Given the description of an element on the screen output the (x, y) to click on. 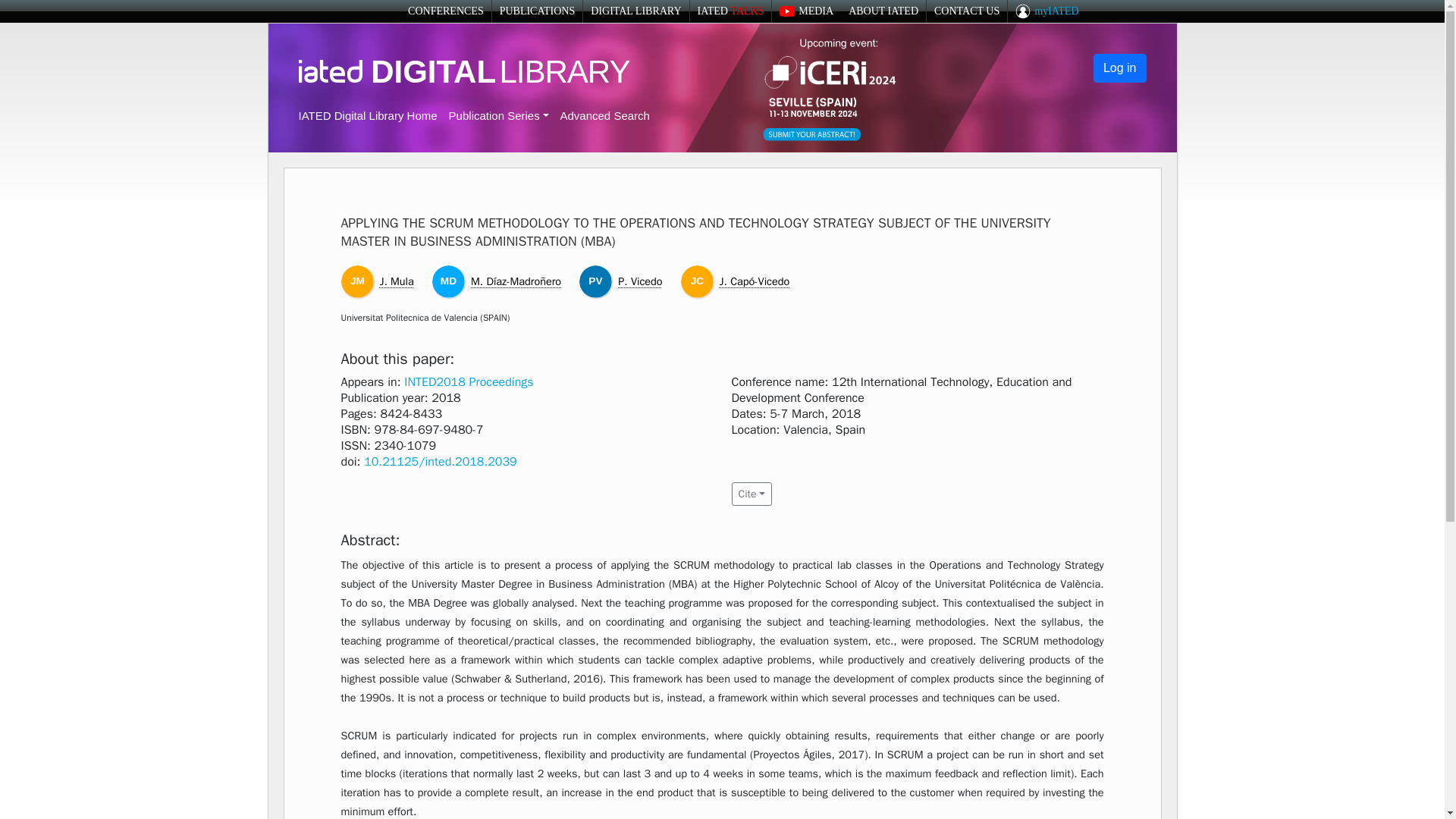
DIGITAL LIBRARY (636, 10)
CONFERENCES (445, 10)
CONTACT US (966, 10)
P. Vicedo (639, 281)
doi (440, 461)
PUBLICATIONS (537, 10)
myIATED (1046, 11)
IATED TALKS (730, 10)
ABOUT IATED (883, 10)
IATED Digital Library Home (368, 115)
